Given the description of an element on the screen output the (x, y) to click on. 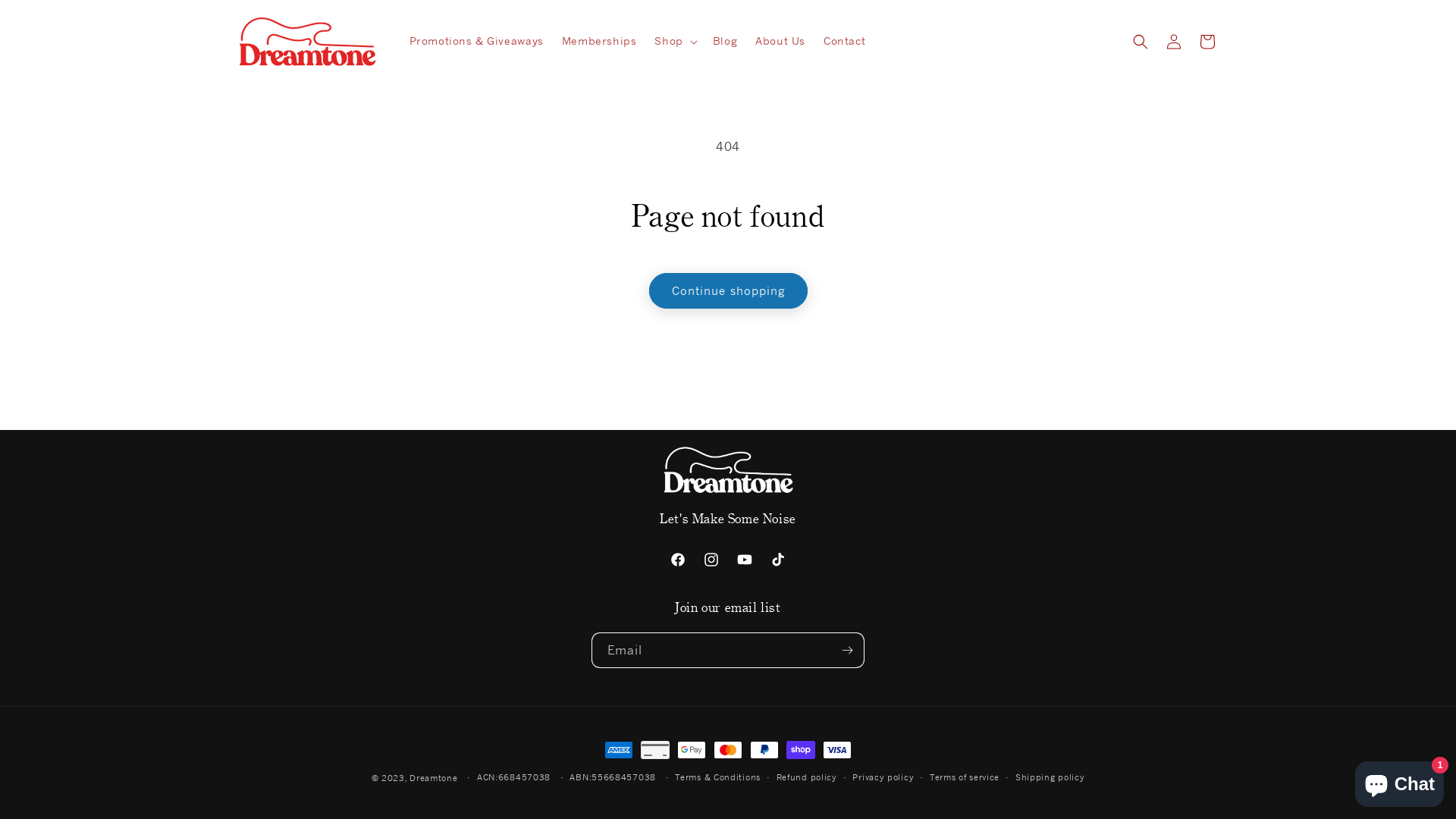
Promotions & Giveaways Element type: text (476, 40)
Blog Element type: text (724, 40)
Cart Element type: text (1206, 40)
Shopify online store chat Element type: hover (1399, 780)
Continue shopping Element type: text (728, 290)
TikTok Element type: text (777, 559)
Facebook Element type: text (677, 559)
Instagram Element type: text (711, 559)
Memberships Element type: text (599, 40)
ABN:55668457038 Element type: text (612, 777)
Privacy policy Element type: text (882, 777)
Shipping policy Element type: text (1050, 777)
Contact Element type: text (844, 40)
Refund policy Element type: text (806, 777)
Terms of service Element type: text (964, 777)
Log in Element type: text (1173, 40)
About Us Element type: text (780, 40)
YouTube Element type: text (744, 559)
ACN:668457038 Element type: text (513, 777)
Terms & Conditions Element type: text (717, 777)
Dreamtone Element type: text (433, 777)
